Given the description of an element on the screen output the (x, y) to click on. 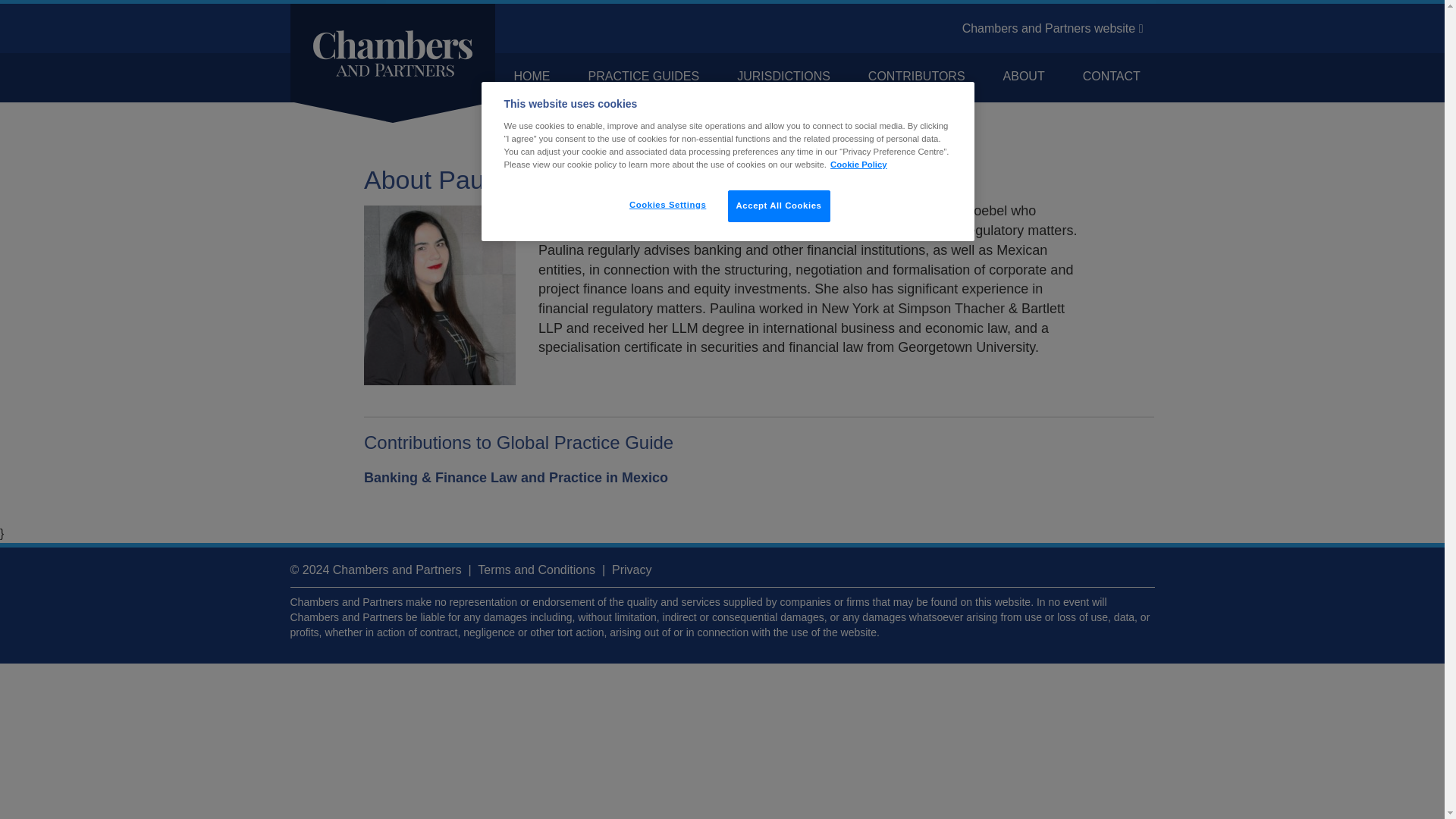
Privacy (630, 569)
Terms and Conditions (536, 569)
Cookies Settings (667, 205)
HOME (531, 75)
Cookie Policy (857, 163)
Chambers and Partners website (1052, 28)
CONTACT (1111, 76)
ABOUT (1024, 76)
go to Chambers and Partners (1052, 28)
PRACTICE GUIDES (643, 75)
Accept All Cookies (778, 205)
JURISDICTIONS (783, 75)
CONTRIBUTORS (916, 76)
